Given the description of an element on the screen output the (x, y) to click on. 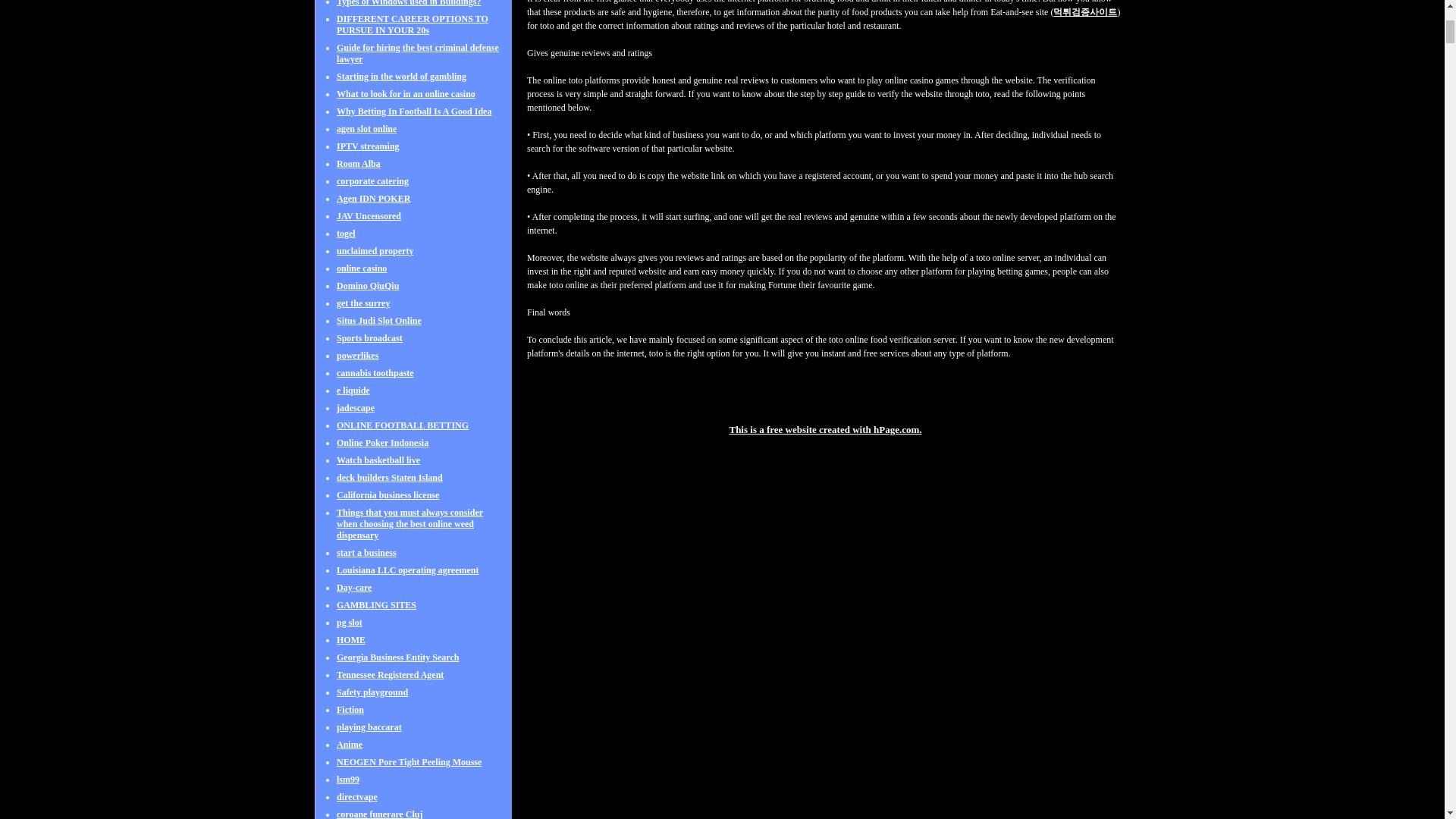
What are the benefits of windows and doors in your home? (409, 2)
Types of Windows used in Buildings? (408, 11)
